Given the description of an element on the screen output the (x, y) to click on. 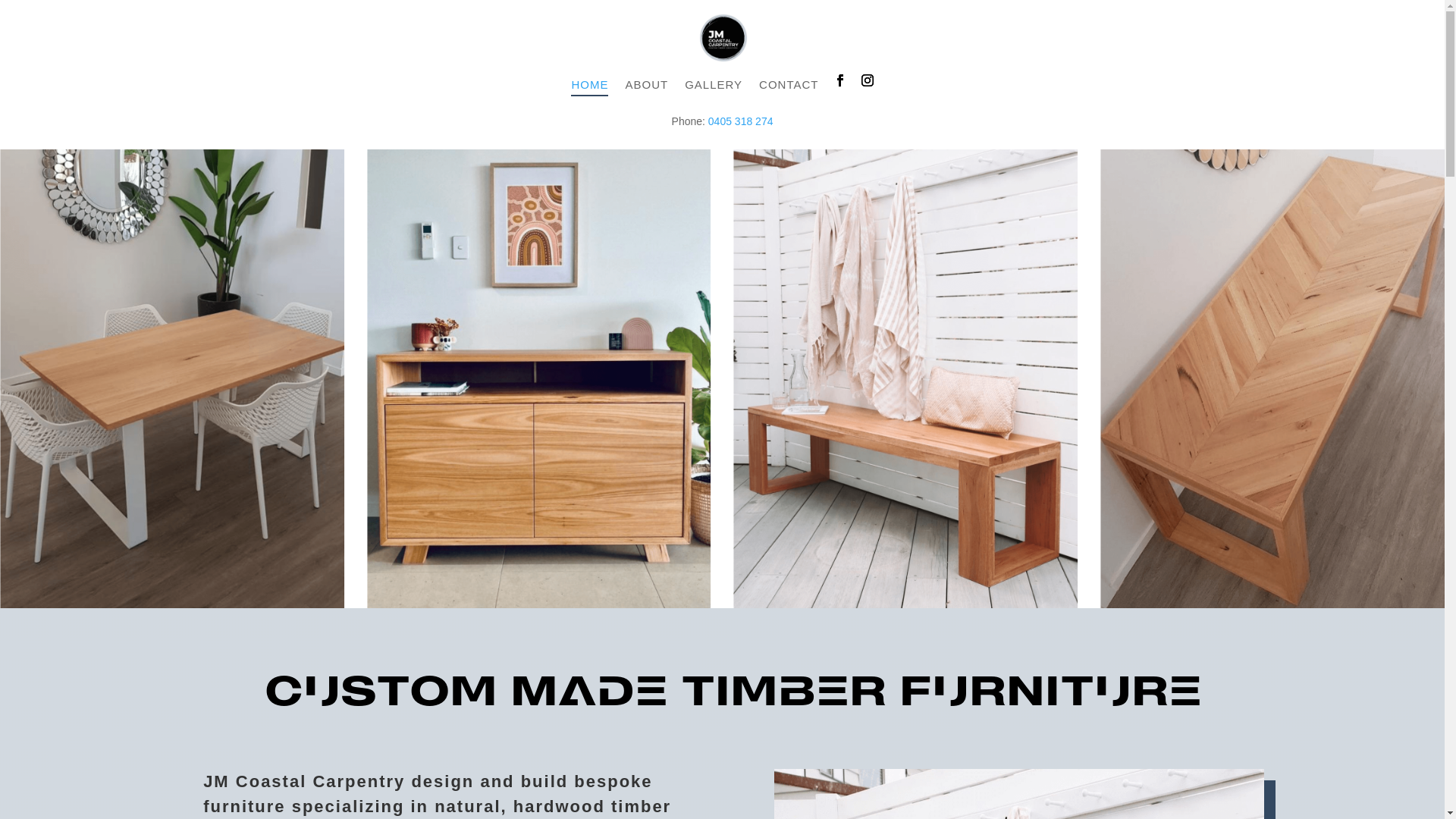
ABOUT Element type: text (646, 95)
GALLERY Element type: text (713, 95)
0405 318 274 Element type: text (740, 121)
CONTACT Element type: text (788, 95)
HOME Element type: text (589, 95)
